Given the description of an element on the screen output the (x, y) to click on. 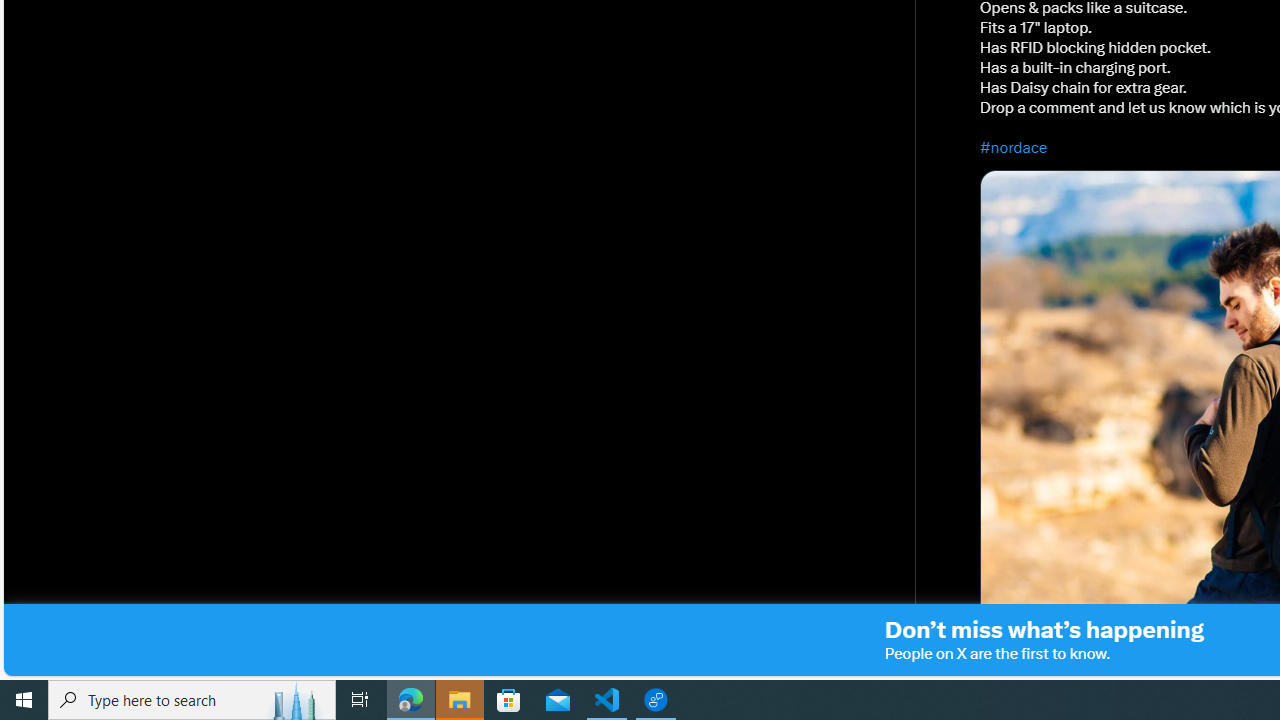
#nordace (1014, 147)
